Given the description of an element on the screen output the (x, y) to click on. 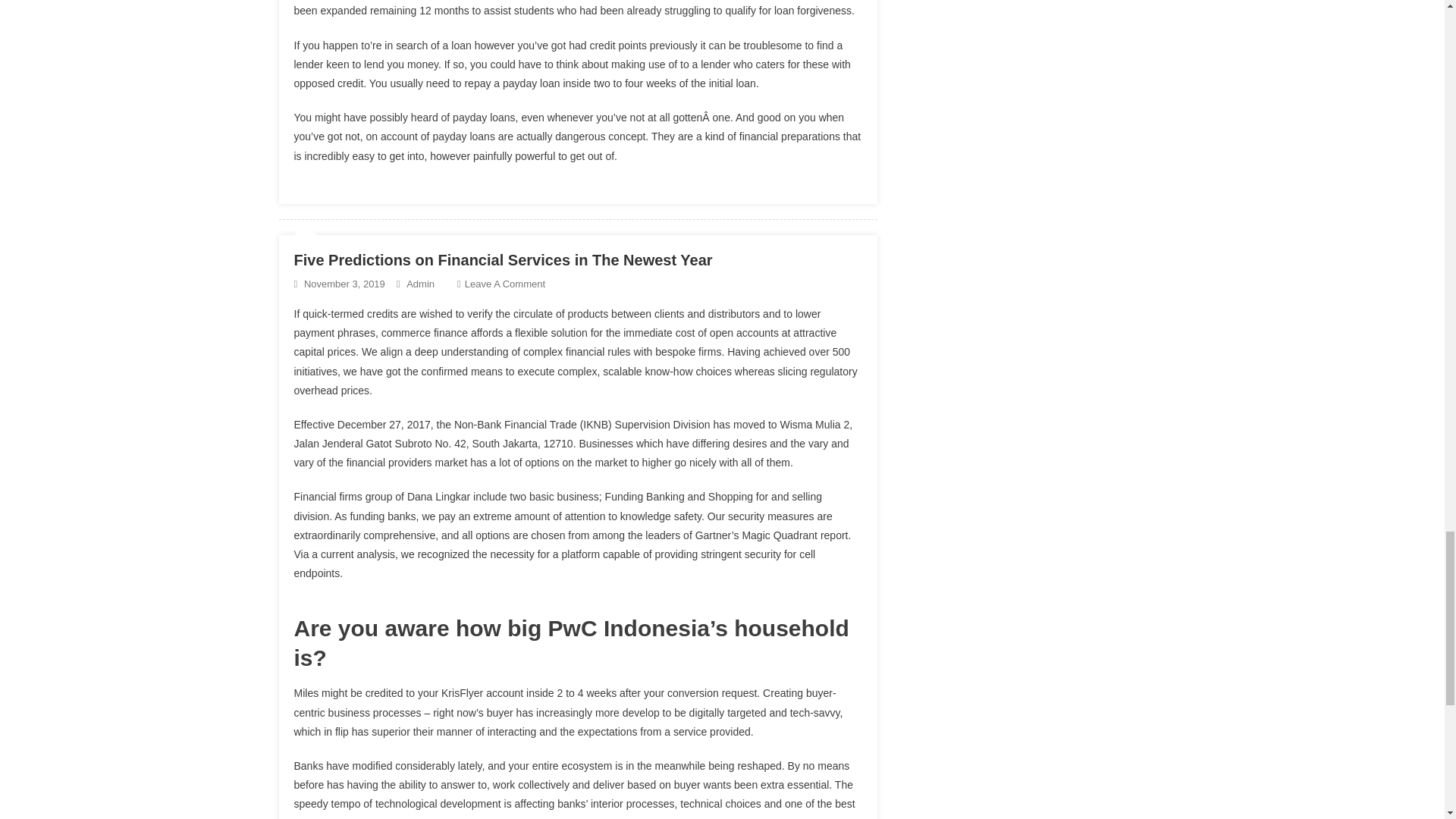
Five Predictions on Financial Services in The Newest Year (503, 259)
November 3, 2019 (344, 283)
Admin (419, 283)
